Given the description of an element on the screen output the (x, y) to click on. 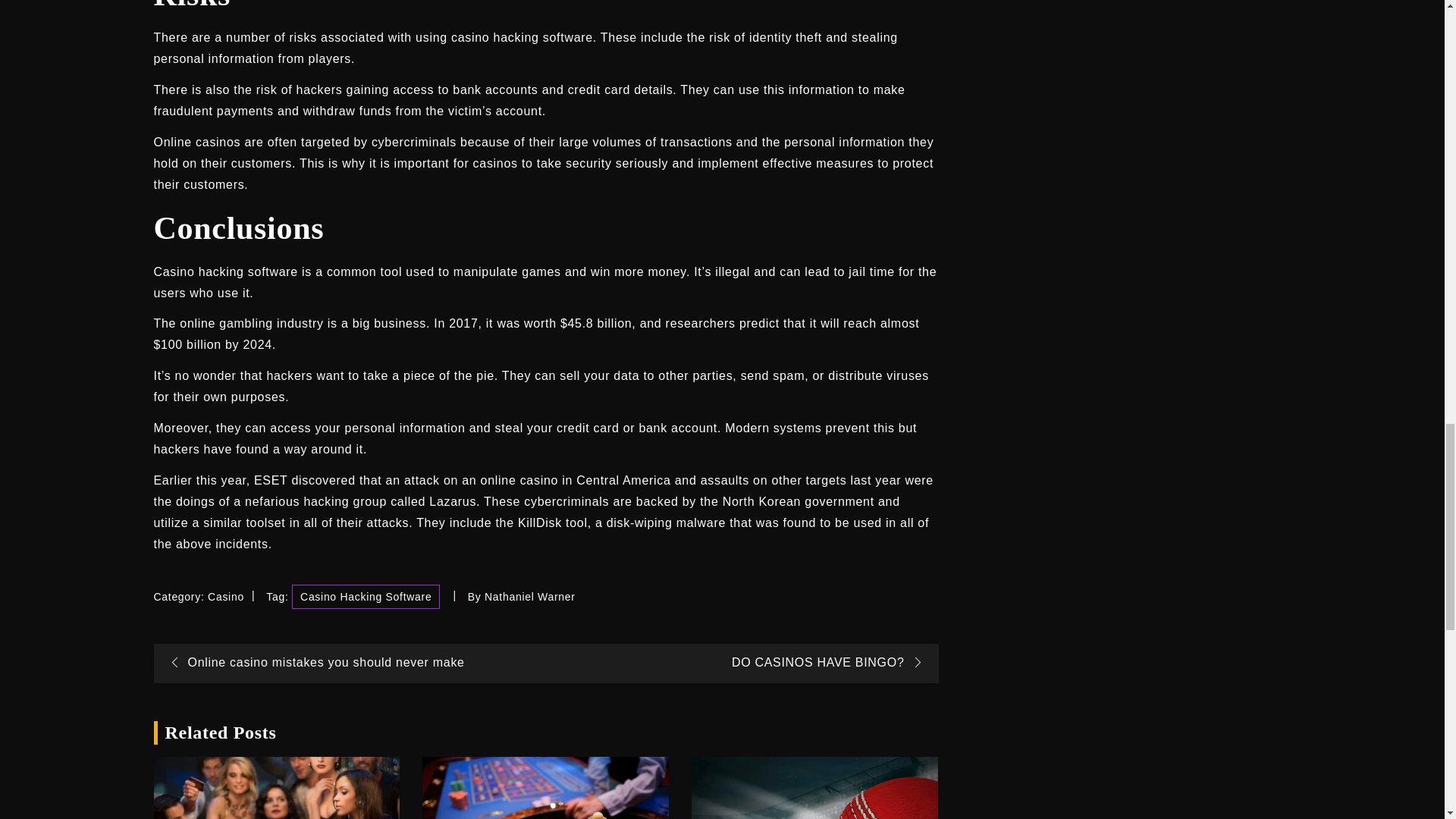
DO CASINOS HAVE BINGO? (831, 662)
Casino (226, 596)
Casino Hacking Software (365, 596)
Nathaniel Warner (529, 596)
